Given the description of an element on the screen output the (x, y) to click on. 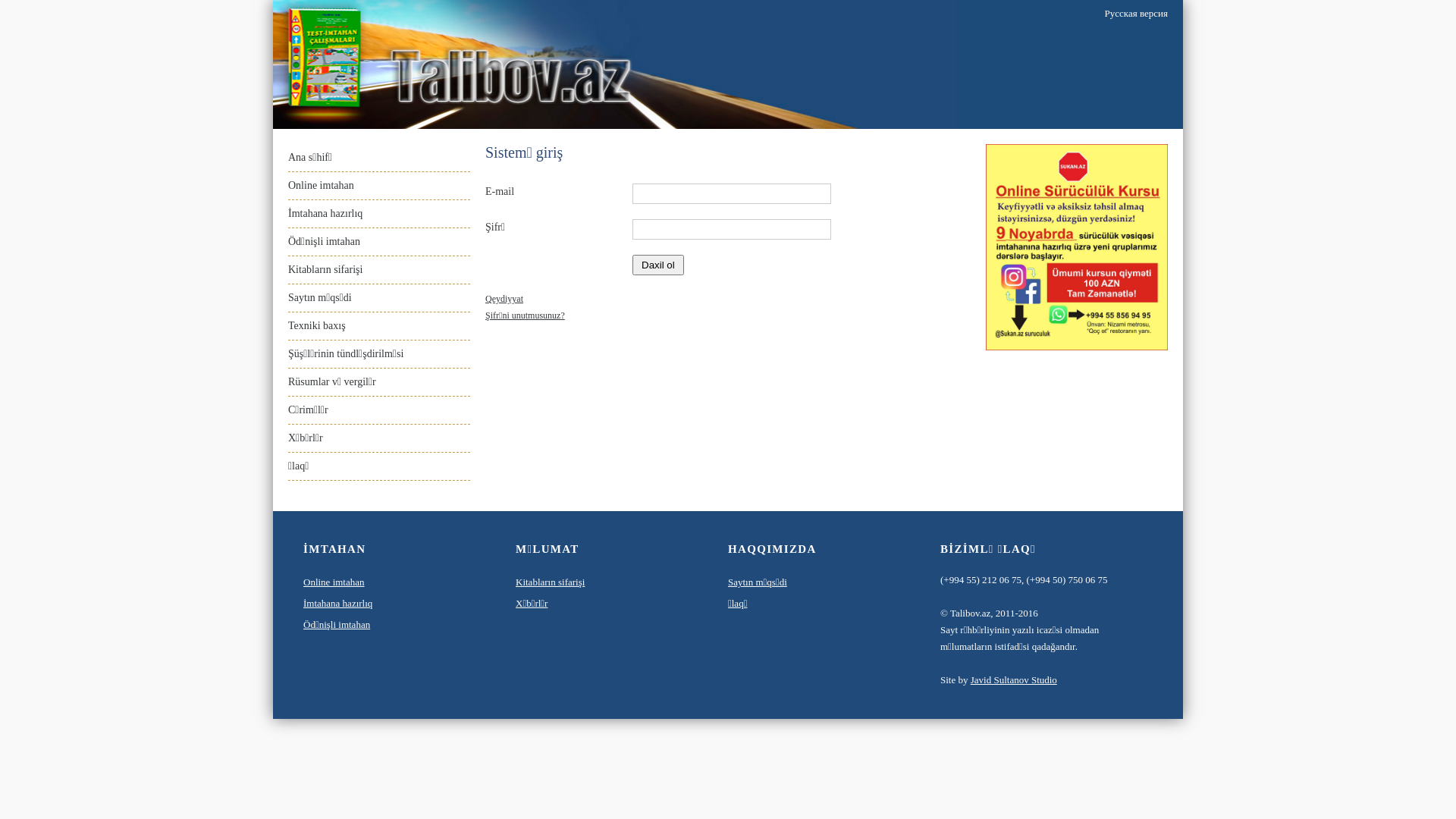
Online imtahan Element type: text (333, 581)
Qeydiyyat Element type: text (504, 298)
Online imtahan Element type: text (321, 185)
Javid Sultanov Studio Element type: text (1013, 679)
Daxil ol Element type: text (658, 264)
